Given the description of an element on the screen output the (x, y) to click on. 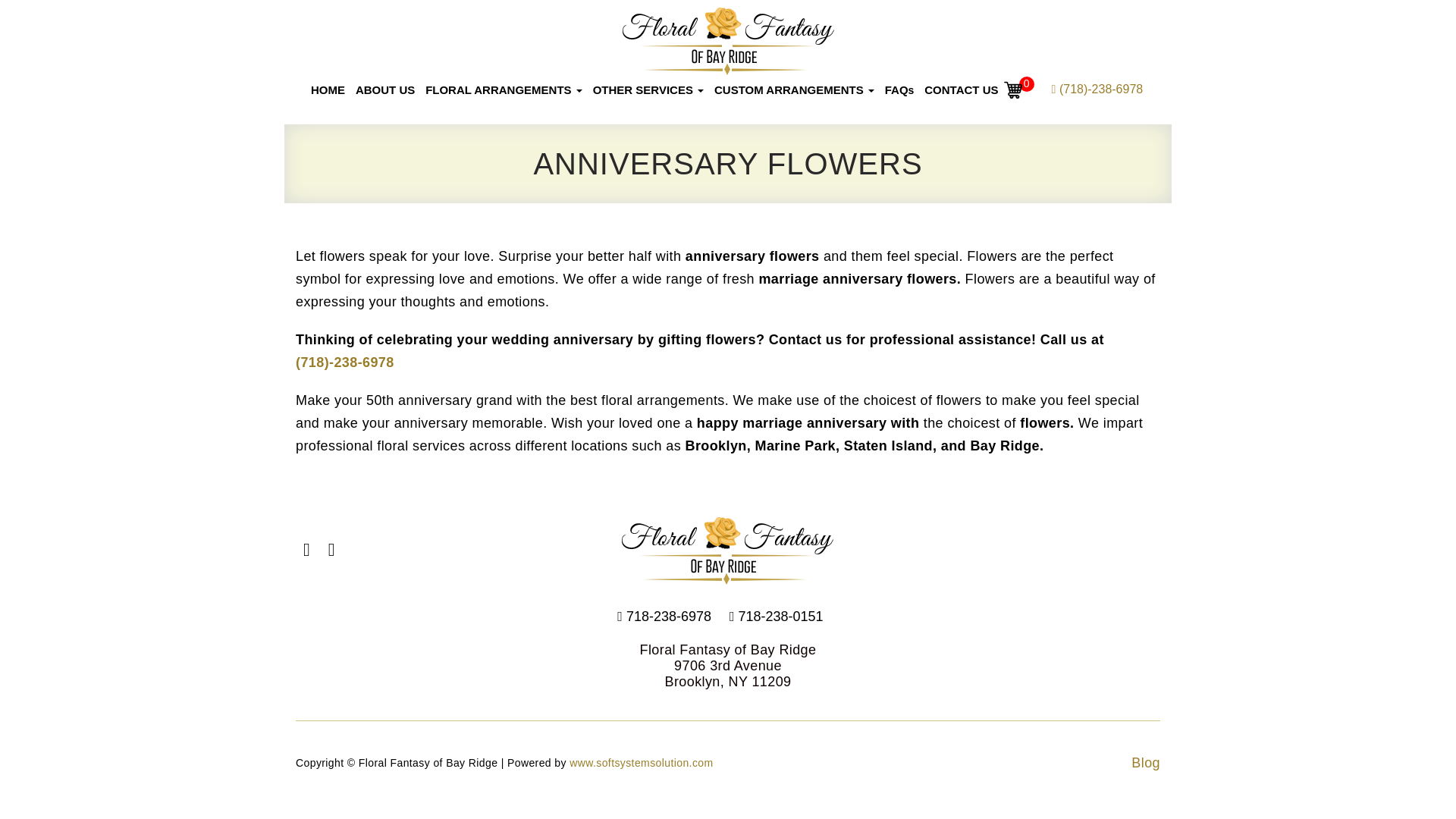
ABOUT US (385, 90)
HOME (328, 90)
CONTACT US (960, 90)
FAQs (899, 90)
FLORAL ARRANGEMENTS (504, 90)
OTHER SERVICES (648, 90)
0 (1013, 90)
CUSTOM ARRANGEMENTS (793, 90)
